Given the description of an element on the screen output the (x, y) to click on. 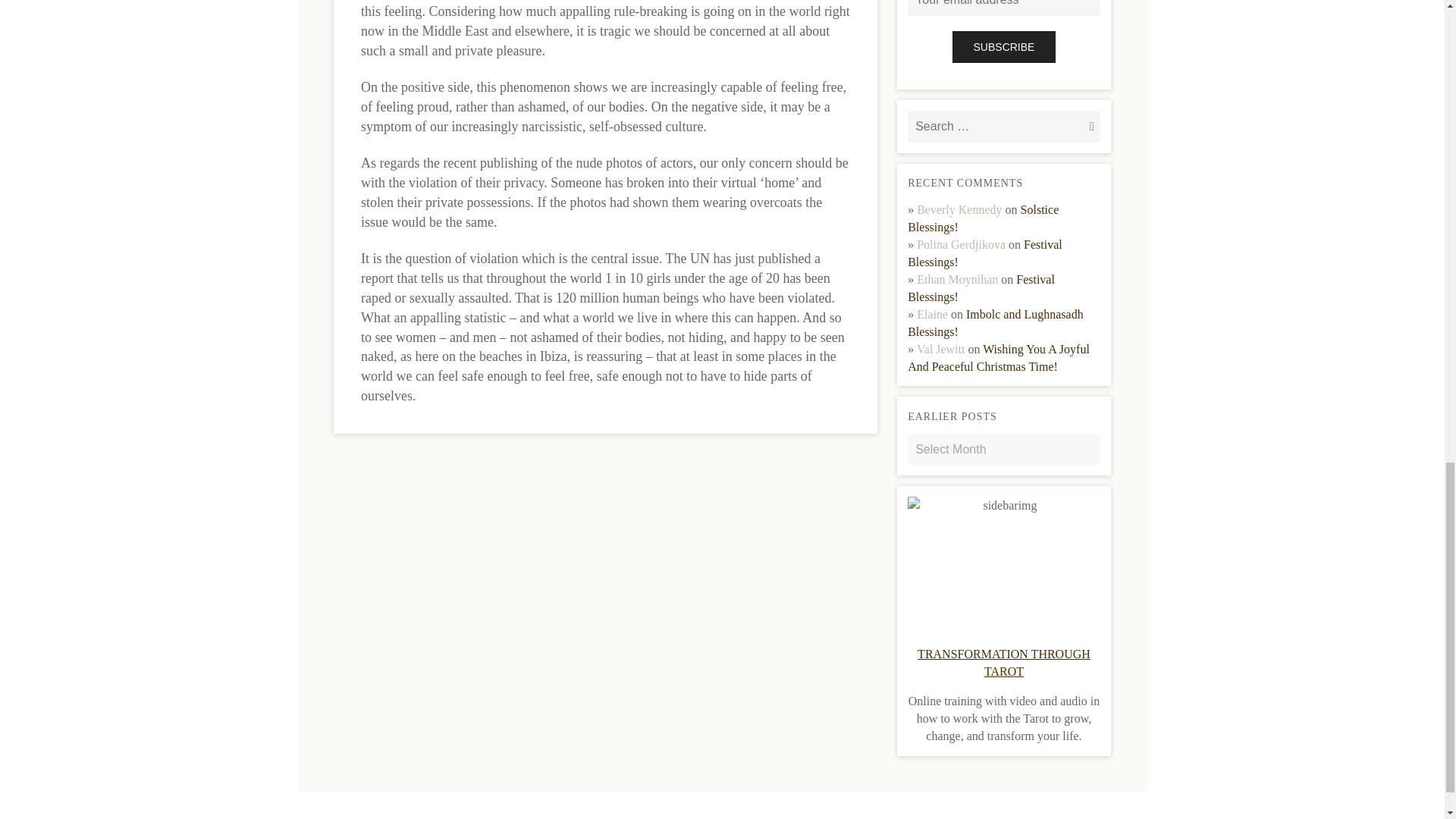
Subscribe (1004, 47)
TRANSFORMATION THROUGH TAROT (1003, 662)
Solstice Blessings! (982, 218)
Wishing You A Joyful And Peaceful Christmas Time! (998, 358)
Festival Blessings! (980, 287)
Subscribe (1004, 47)
Festival Blessings! (984, 253)
Imbolc and Lughnasadh Blessings! (995, 322)
